Given the description of an element on the screen output the (x, y) to click on. 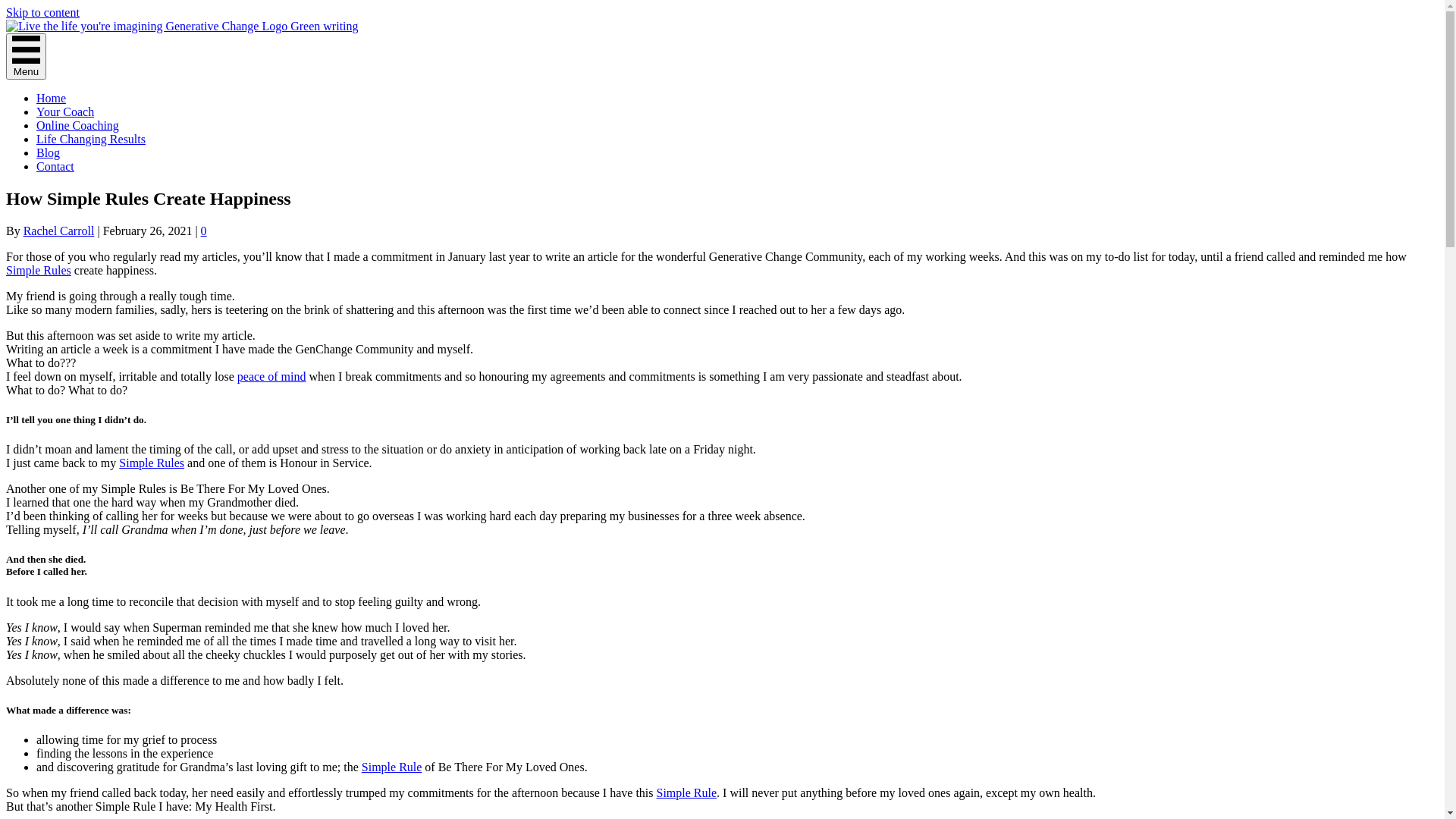
Simple Rule Element type: text (686, 792)
Simple Rule Element type: text (391, 766)
Contact Element type: text (55, 166)
Home Element type: text (50, 97)
Skip to content Element type: text (42, 12)
Blog Element type: text (47, 152)
Life Changing Results Element type: text (90, 138)
Online Coaching Element type: text (77, 125)
Simple Rules Element type: text (151, 462)
Your Coach Element type: text (65, 111)
Menu Element type: text (26, 56)
peace of mind Element type: text (271, 376)
Simple Rules Element type: text (38, 269)
Rachel Carroll Element type: text (58, 230)
0 Element type: text (203, 230)
logo-generative-change Element type: hover (182, 26)
